Given the description of an element on the screen output the (x, y) to click on. 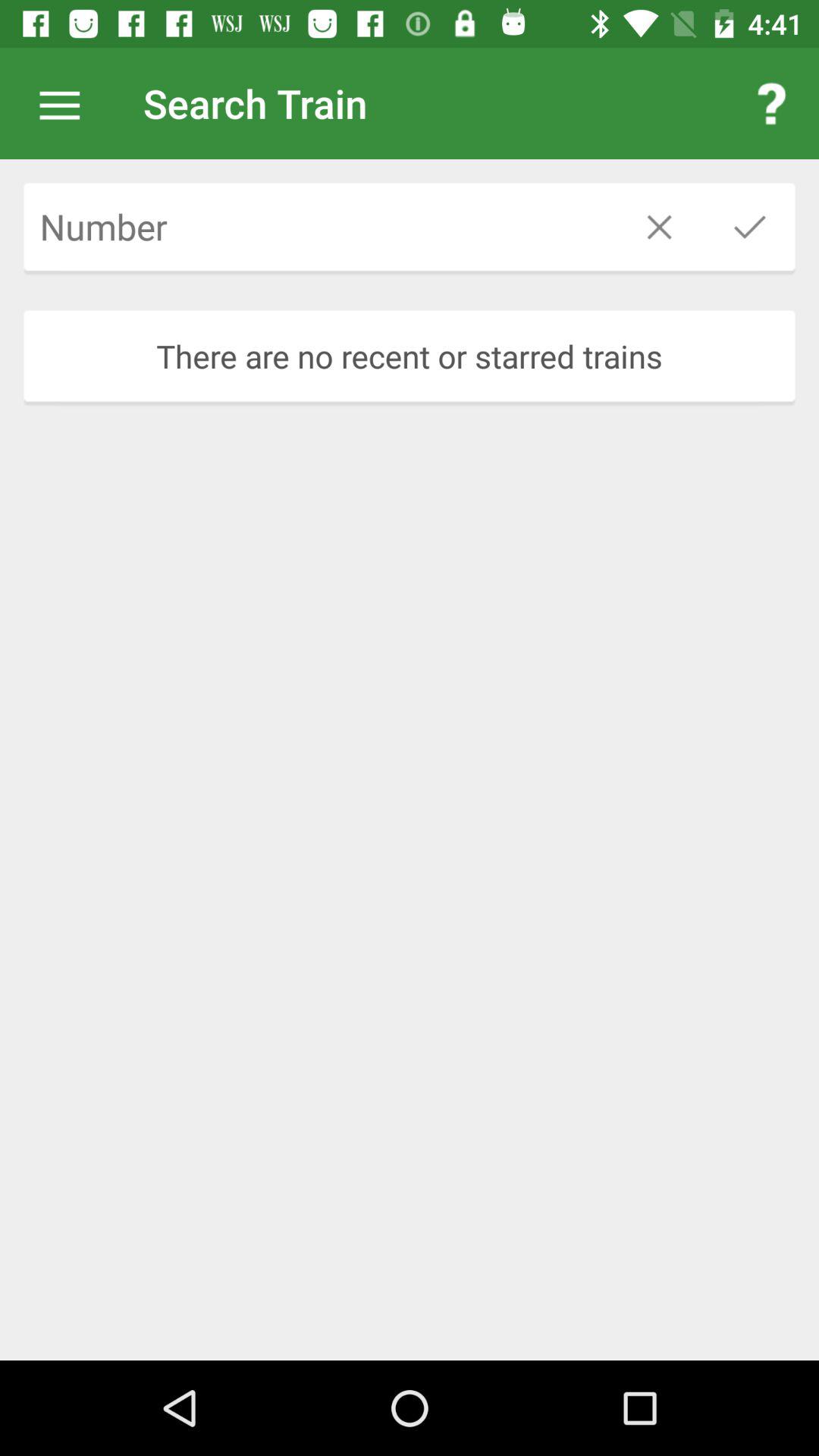
activate the menu (67, 103)
